Given the description of an element on the screen output the (x, y) to click on. 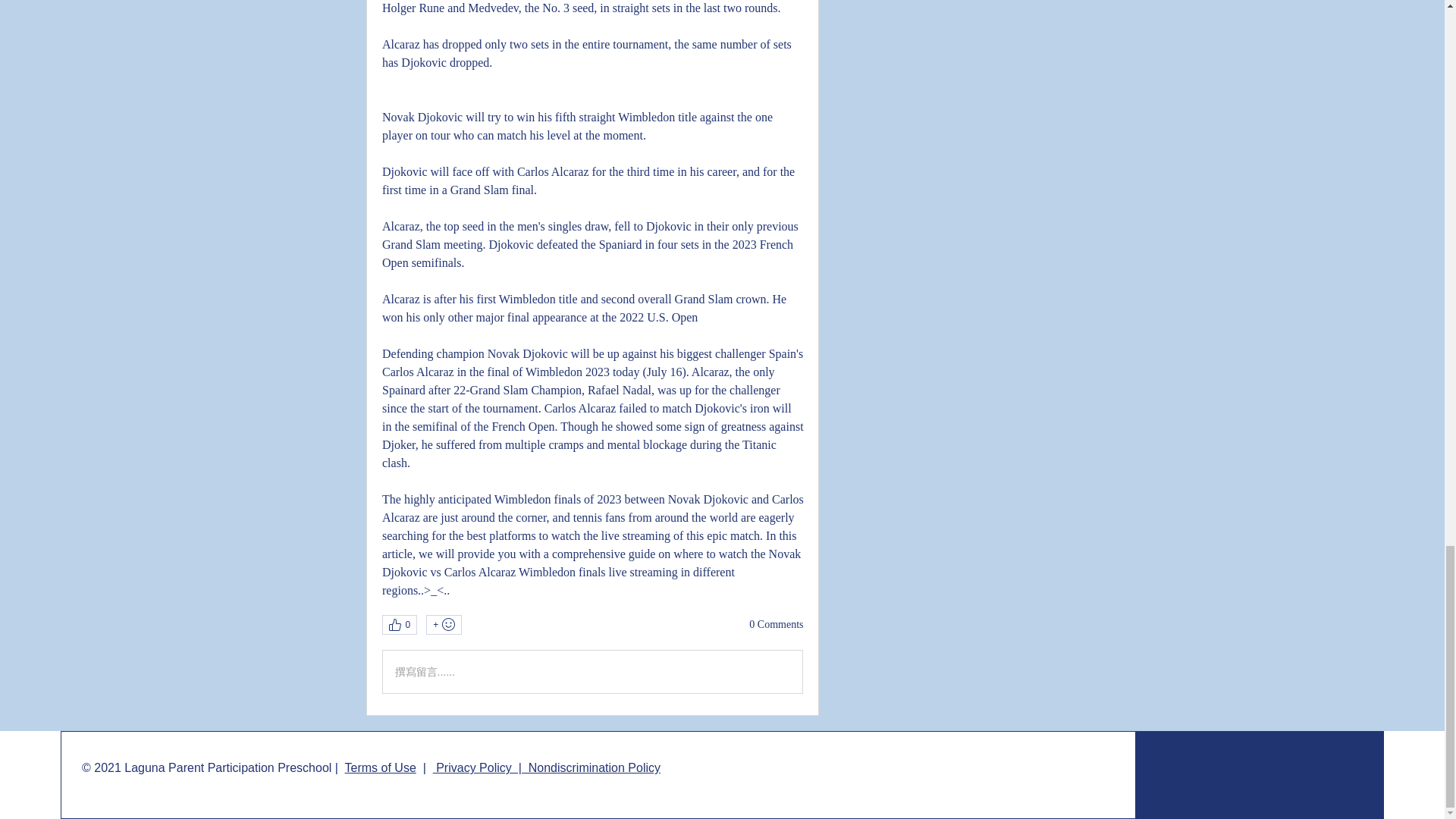
0 Comments (776, 624)
